Given the description of an element on the screen output the (x, y) to click on. 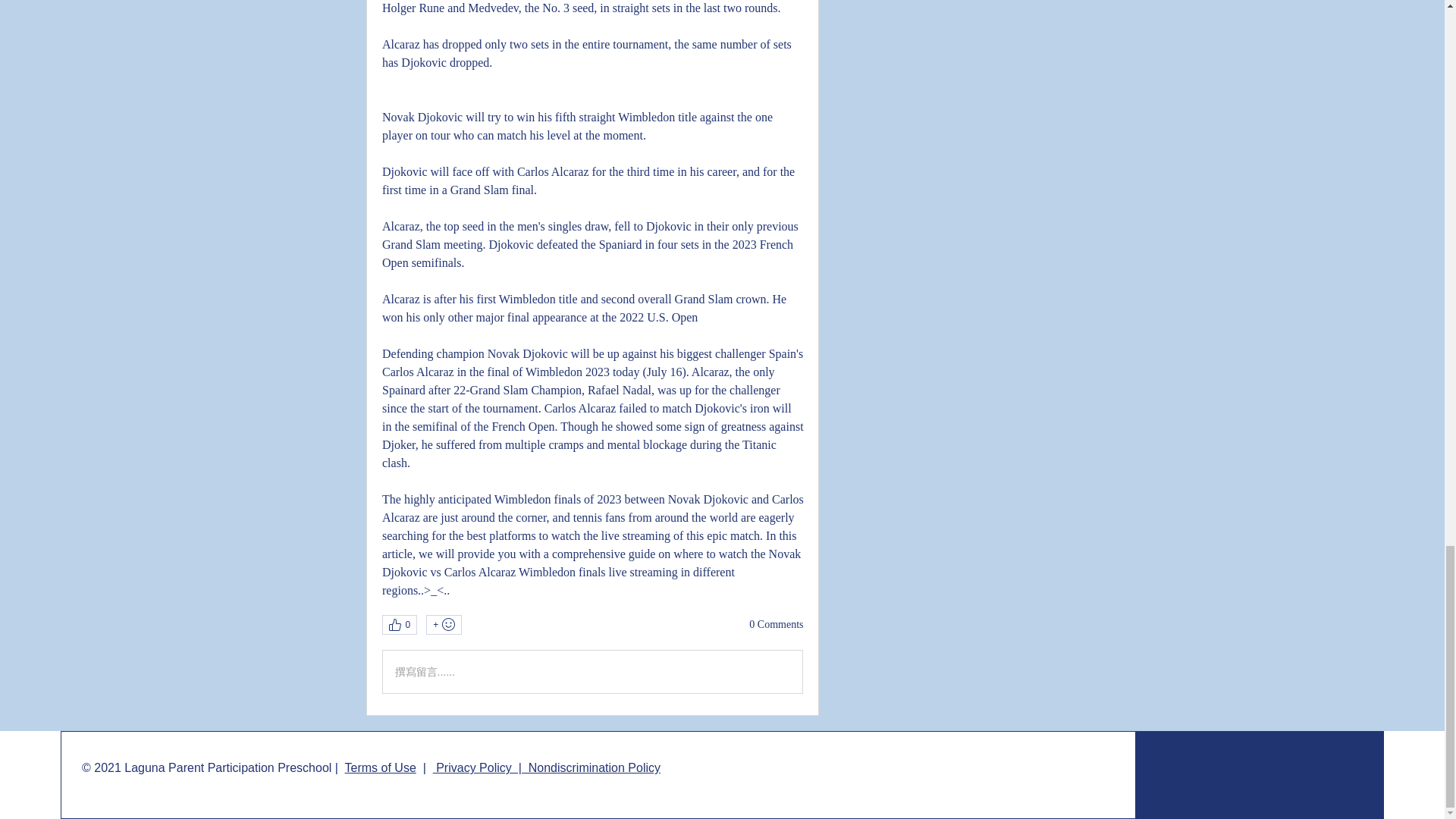
0 Comments (776, 624)
